Given the description of an element on the screen output the (x, y) to click on. 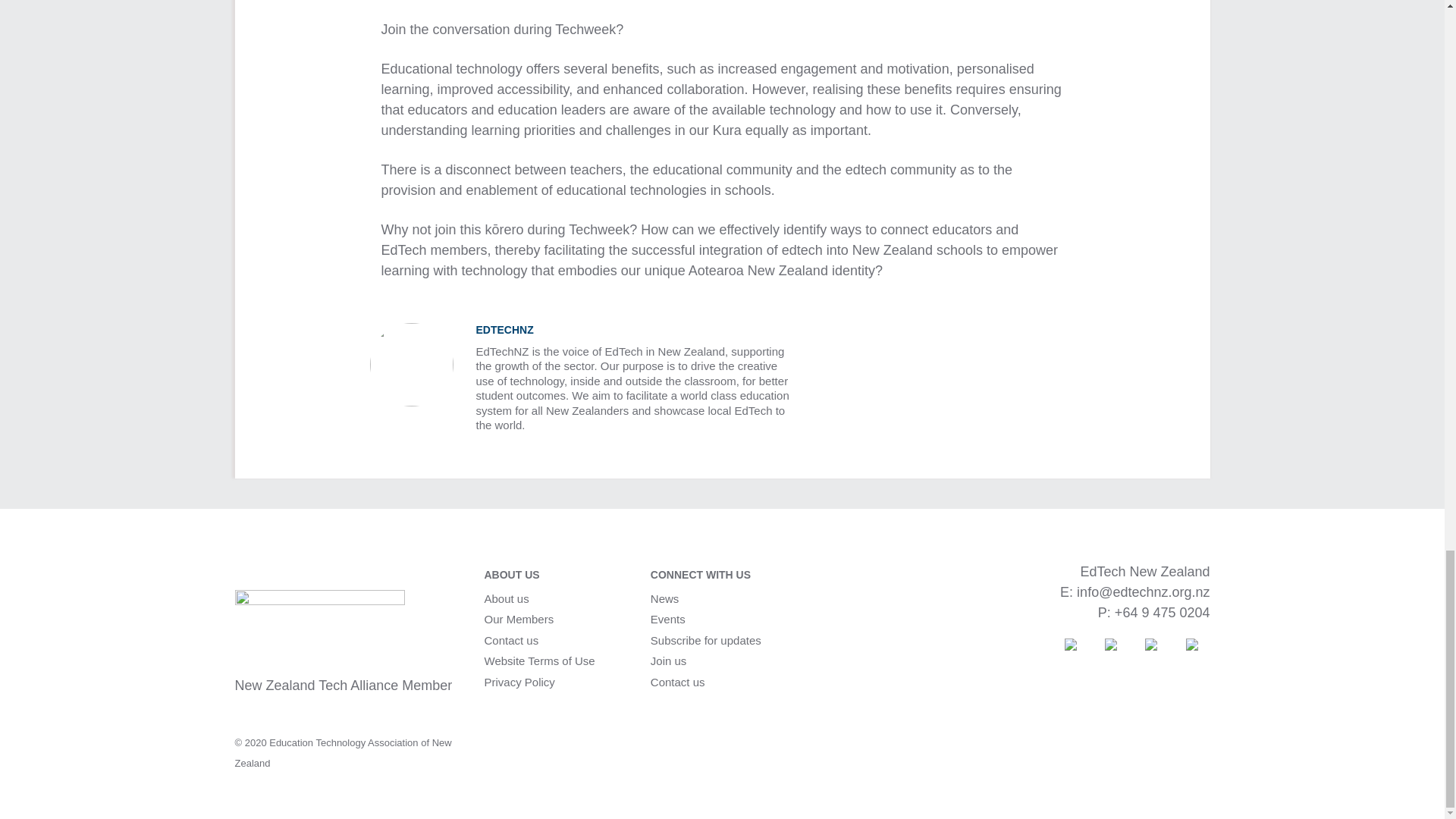
About us (505, 598)
Our Members (518, 619)
